Given the description of an element on the screen output the (x, y) to click on. 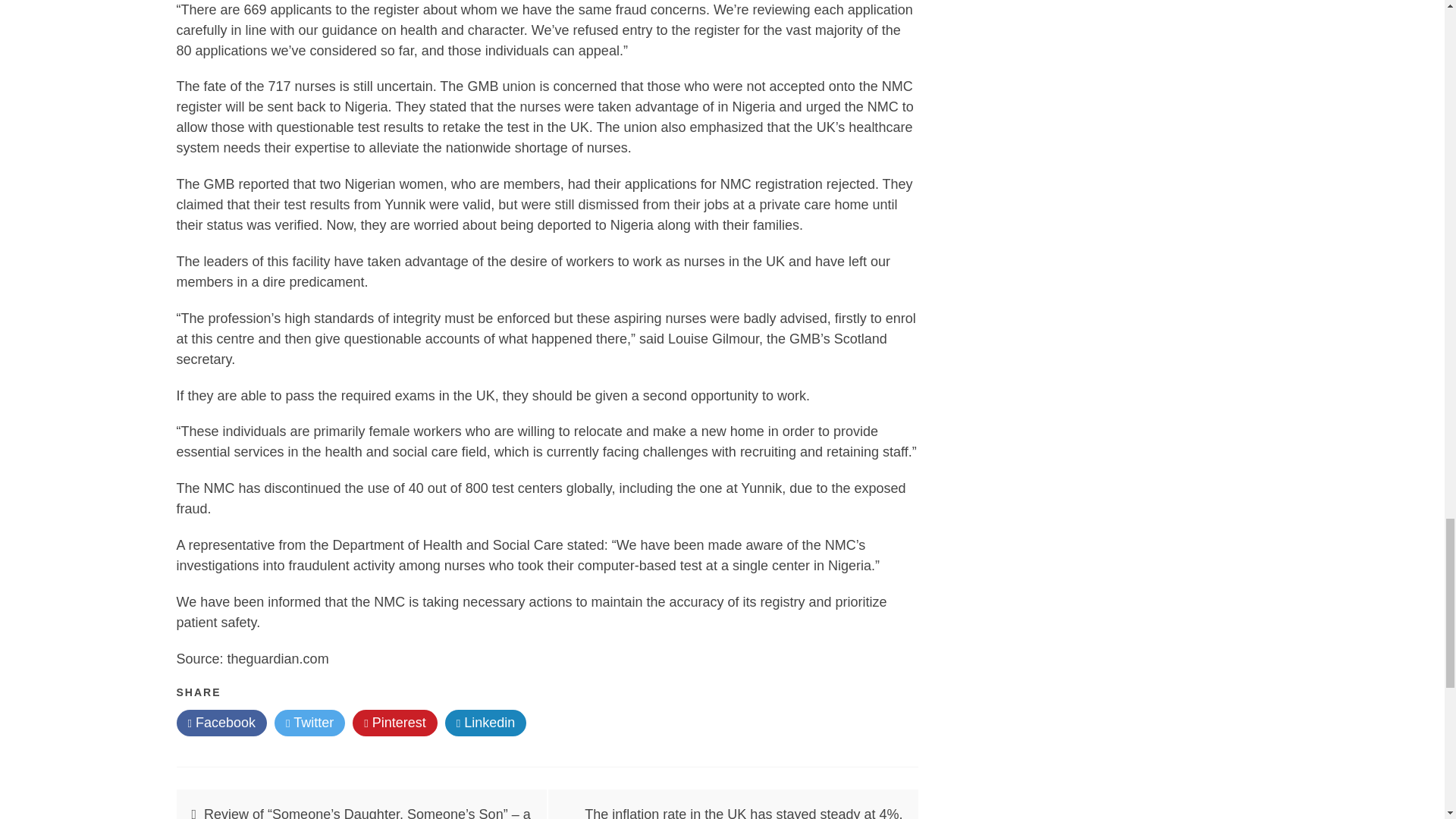
Facebook (221, 723)
Twitter (310, 723)
Linkedin (486, 723)
Pinterest (395, 723)
